Given the description of an element on the screen output the (x, y) to click on. 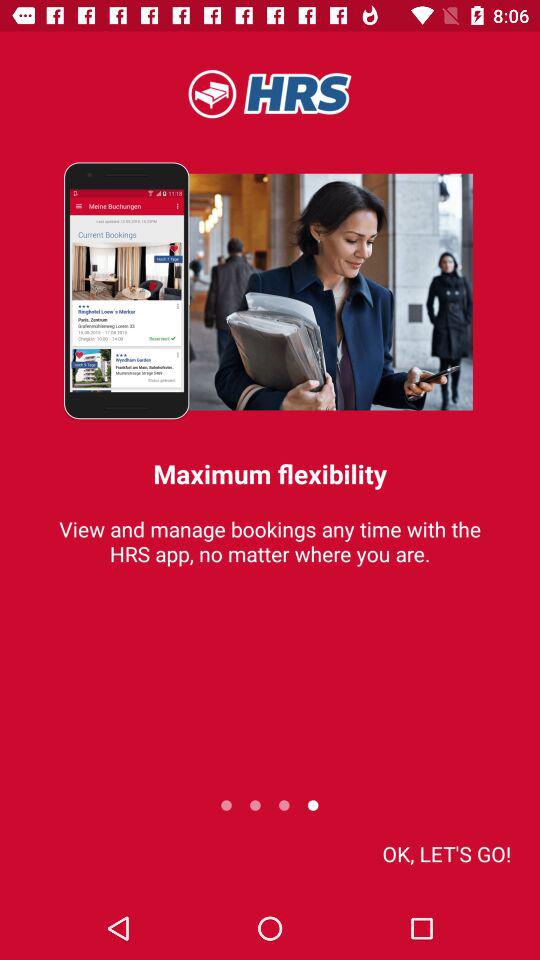
jump to ok let s icon (446, 853)
